Given the description of an element on the screen output the (x, y) to click on. 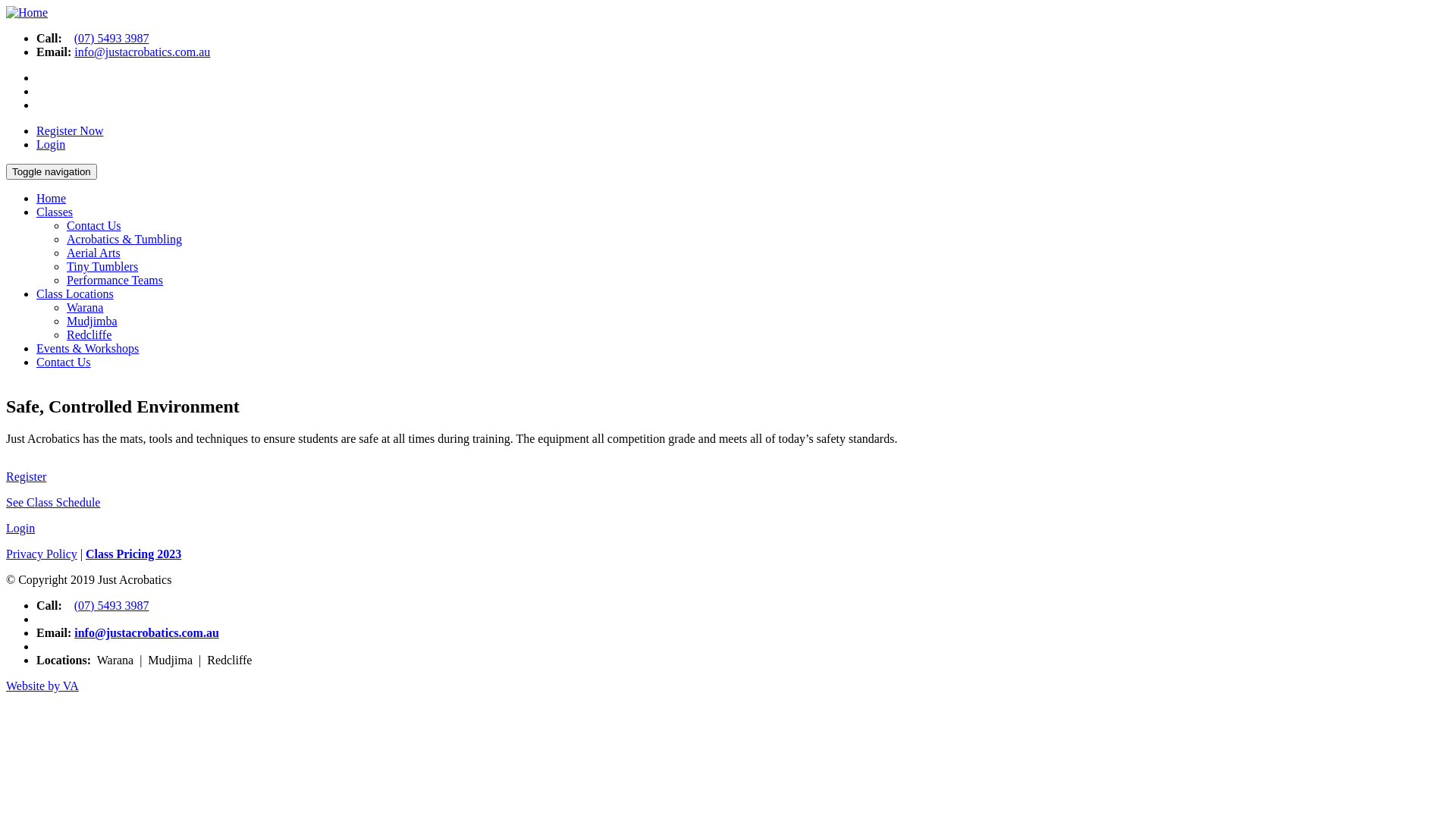
Acrobatics & Tumbling Element type: text (124, 238)
Classes Element type: text (54, 211)
Redcliffe Element type: text (88, 334)
Privacy Policy Element type: text (41, 553)
Mudjimba Element type: text (91, 320)
(07) 5493 3987 Element type: text (111, 37)
info@justacrobatics.com.au Element type: text (142, 51)
See Class Schedule Element type: text (53, 501)
Class Pricing 2023 Element type: text (133, 553)
Class Locations Element type: text (74, 293)
Contact Us Element type: text (63, 361)
Performance Teams Element type: text (114, 279)
Contact Us Element type: text (93, 225)
Website by VA Element type: text (42, 685)
Warana Element type: text (84, 307)
Register Element type: text (26, 476)
Home Element type: hover (26, 12)
Login Element type: text (20, 527)
Tiny Tumblers Element type: text (102, 266)
Login Element type: text (50, 144)
Register Now Element type: text (69, 130)
(07) 5493 3987 Element type: text (111, 605)
info@justacrobatics.com.au Element type: text (146, 632)
Events & Workshops Element type: text (87, 348)
Toggle navigation Element type: text (51, 171)
Skip to main content Element type: text (56, 6)
Home Element type: text (50, 197)
Aerial Arts Element type: text (93, 252)
